Given the description of an element on the screen output the (x, y) to click on. 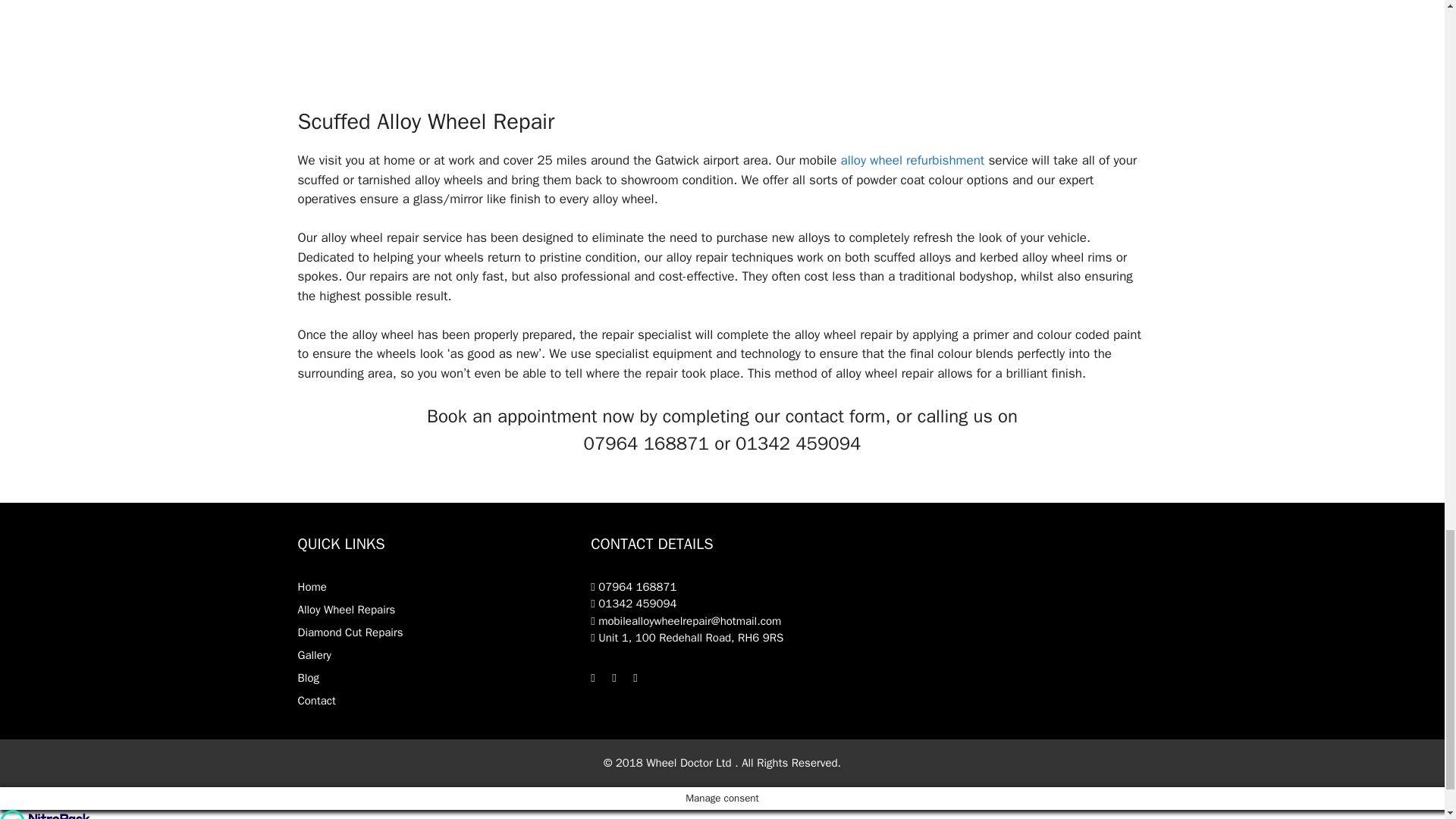
Alloy Wheel Repairs (345, 609)
01342 459094 (634, 603)
Contact (315, 700)
Home (311, 586)
Diamond Cut Repairs (350, 632)
07964 168871 (634, 586)
Gallery (313, 654)
Mobile Alloy Wheel Repairs (913, 160)
alloy wheel refurbishment (913, 160)
Blog (307, 677)
